Given the description of an element on the screen output the (x, y) to click on. 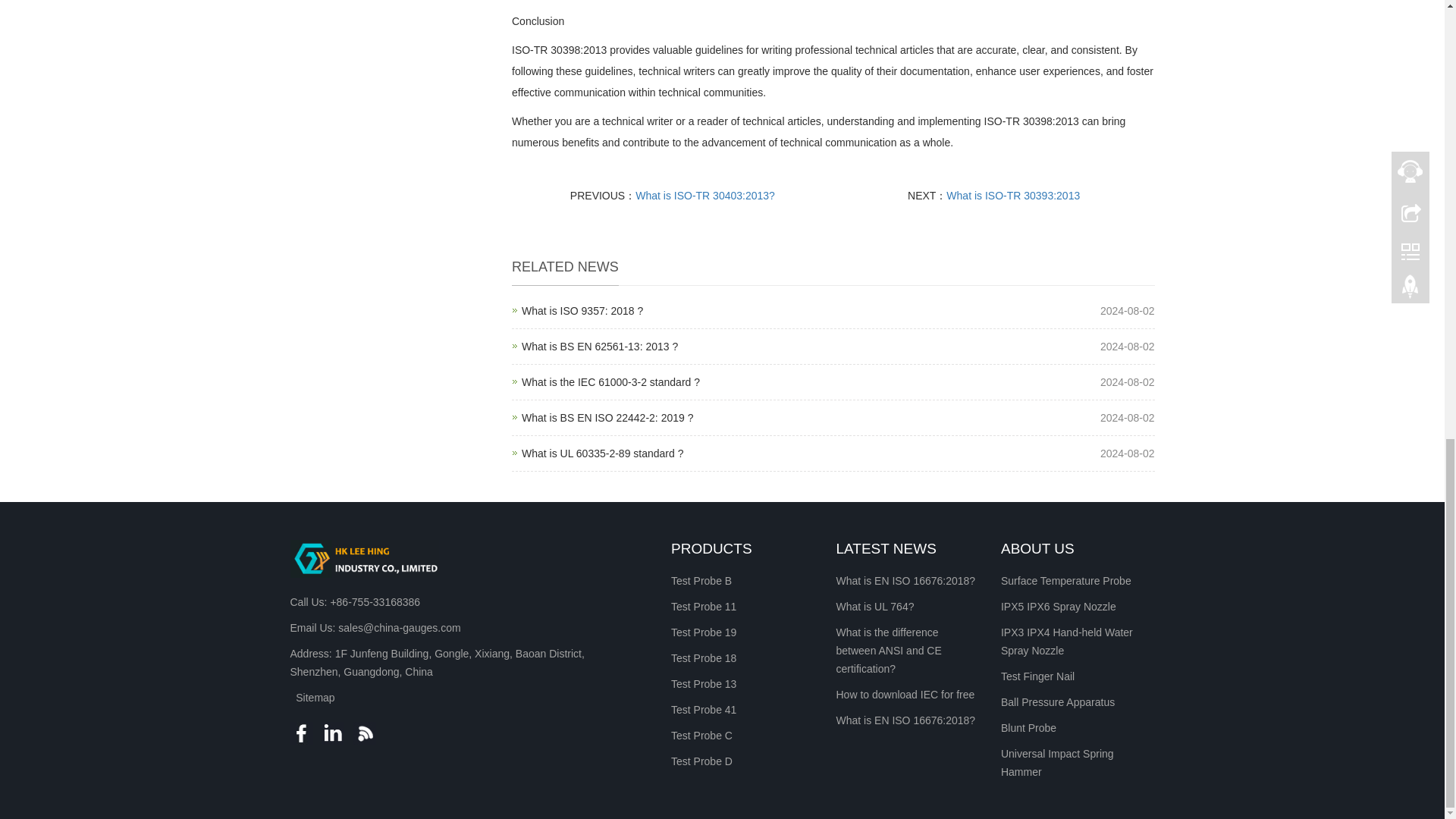
What is ISO 9357: 2018 ? (599, 346)
What is ISO-TR 30403:2013? (610, 381)
What is ISO-TR 30393:2013 (602, 453)
